Given the description of an element on the screen output the (x, y) to click on. 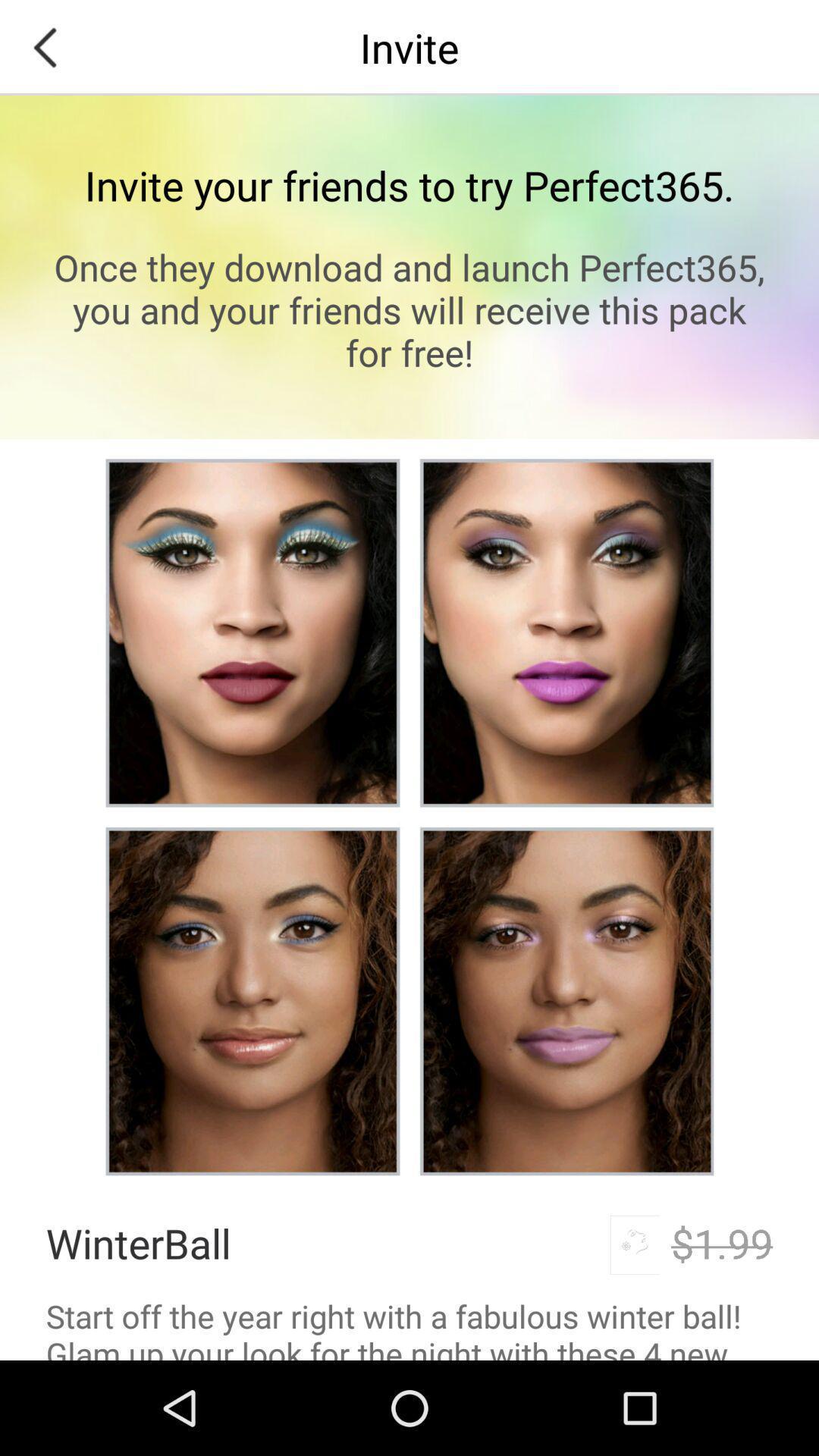
jump to the once they download (409, 309)
